Given the description of an element on the screen output the (x, y) to click on. 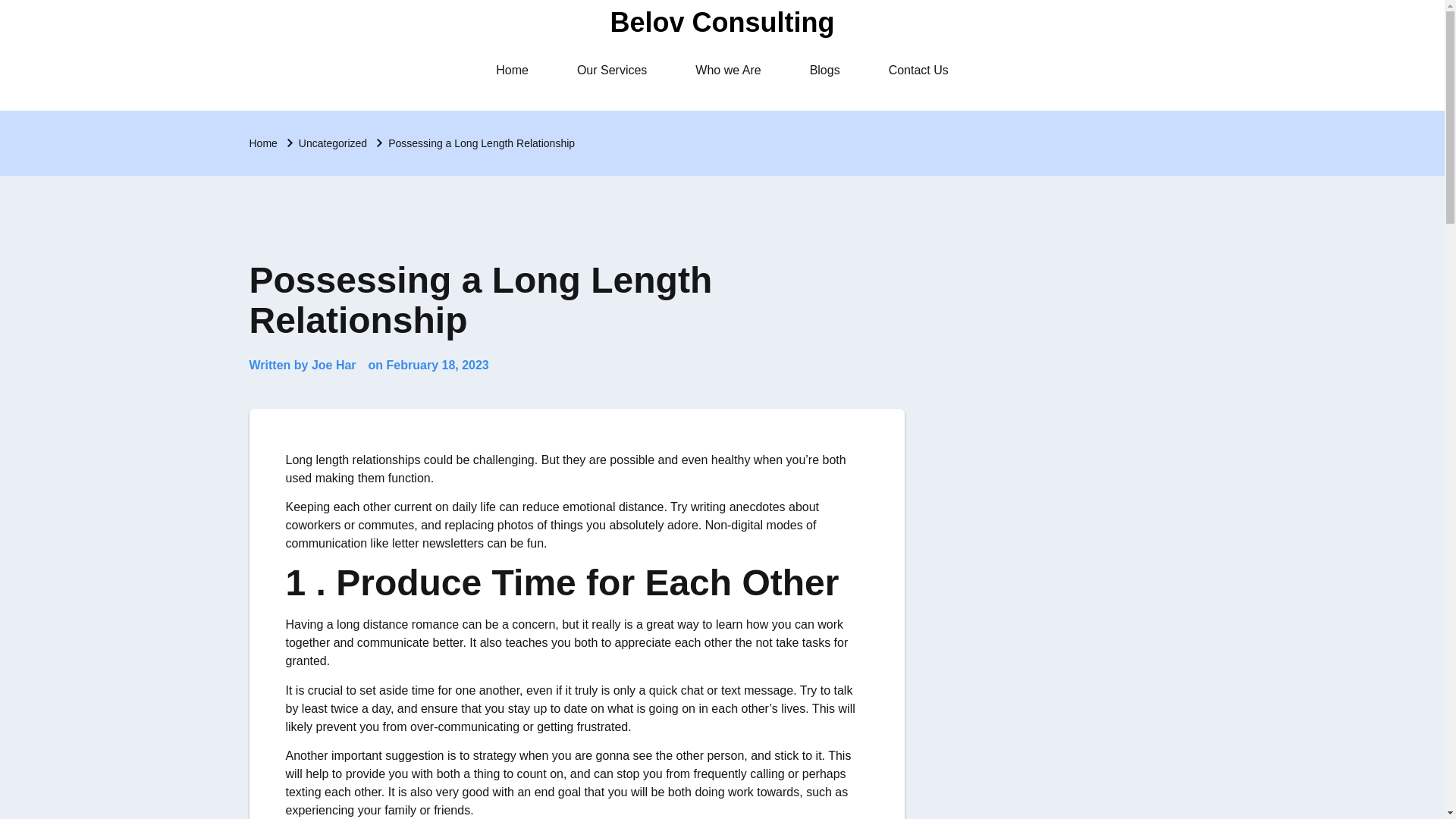
Our Services (612, 70)
Home (512, 70)
Contact Us (918, 70)
Belov Consulting (722, 21)
Who we Are (727, 70)
Blogs (825, 70)
